Given the description of an element on the screen output the (x, y) to click on. 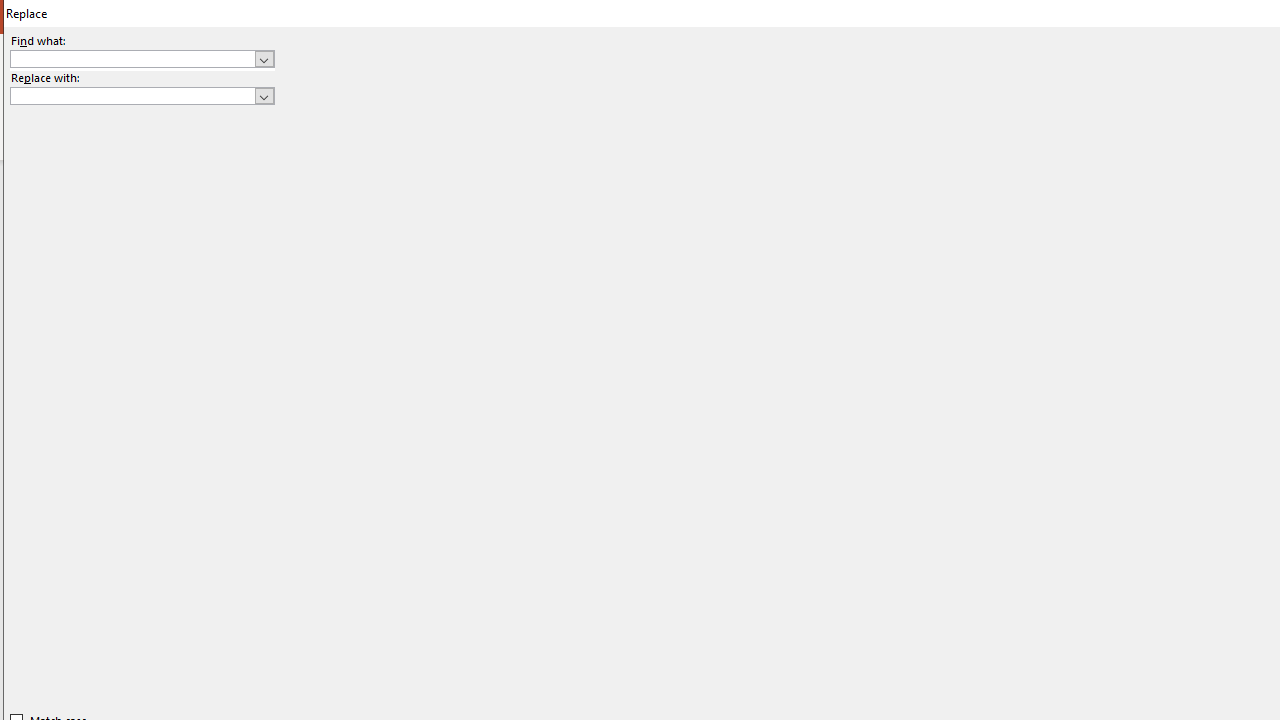
Replace with (132, 95)
Replace with (142, 96)
Find what (132, 58)
Find what (142, 58)
